Given the description of an element on the screen output the (x, y) to click on. 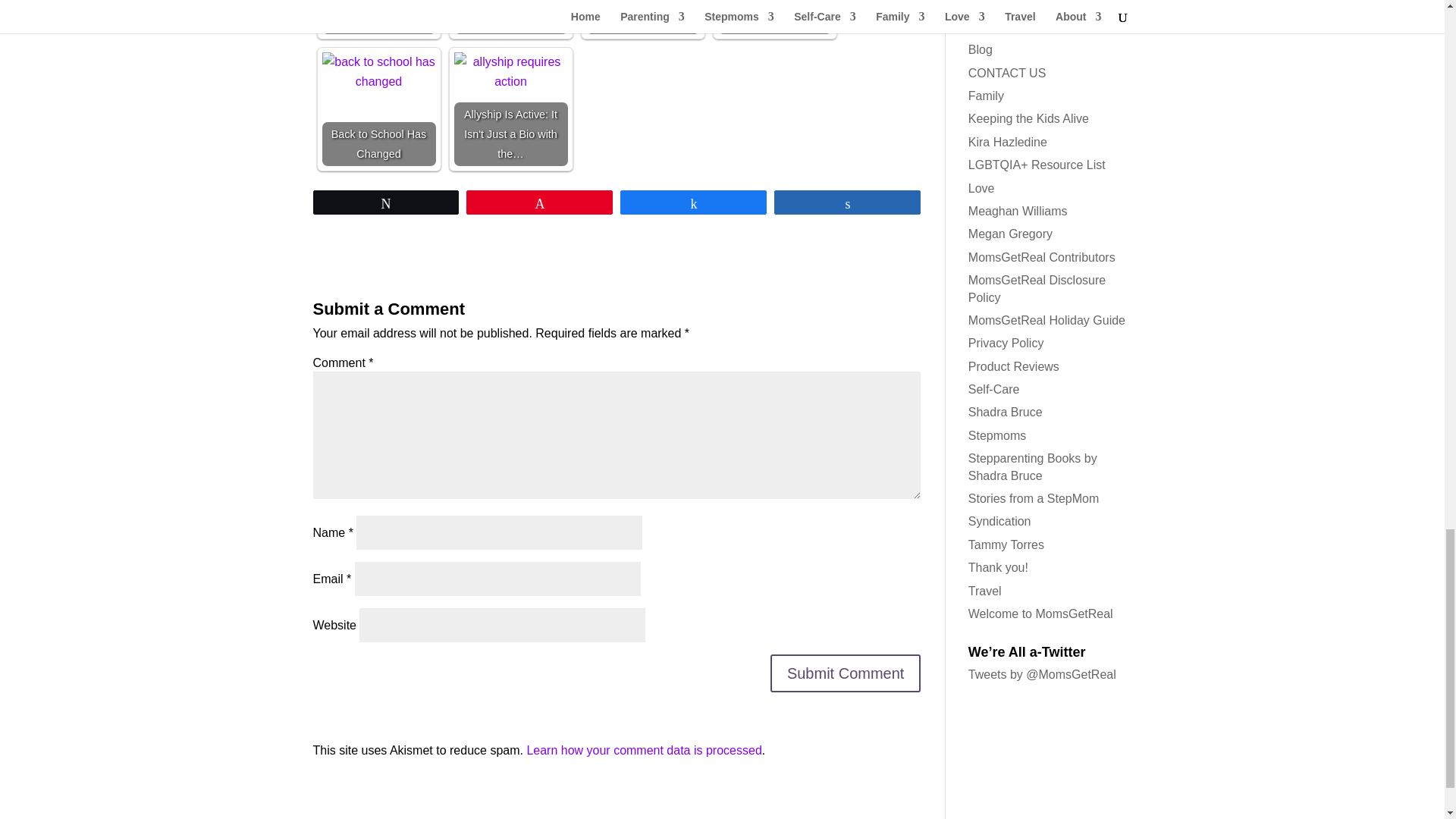
Back to School Has Changed (378, 71)
Submit Comment (845, 673)
